Given the description of an element on the screen output the (x, y) to click on. 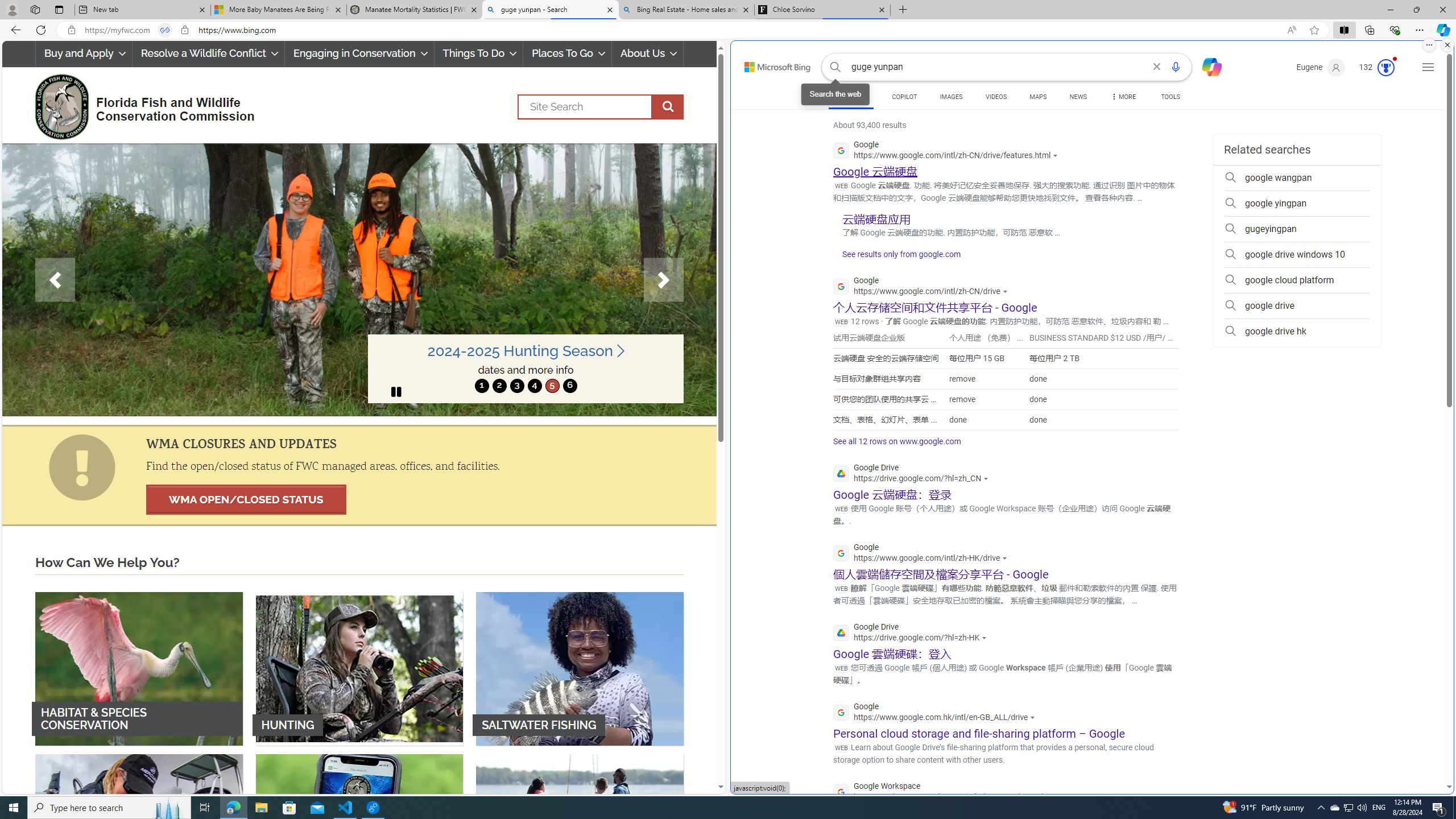
WMA OPEN/CLOSED STATUS (245, 499)
Buy and Apply (83, 53)
Engaging in Conservation (358, 53)
About Us (647, 53)
AutomationID: mfa_root (1406, 752)
move to slide 1 (481, 385)
google drive (1297, 305)
Things To Do (478, 53)
Clear text (1156, 66)
